Given the description of an element on the screen output the (x, y) to click on. 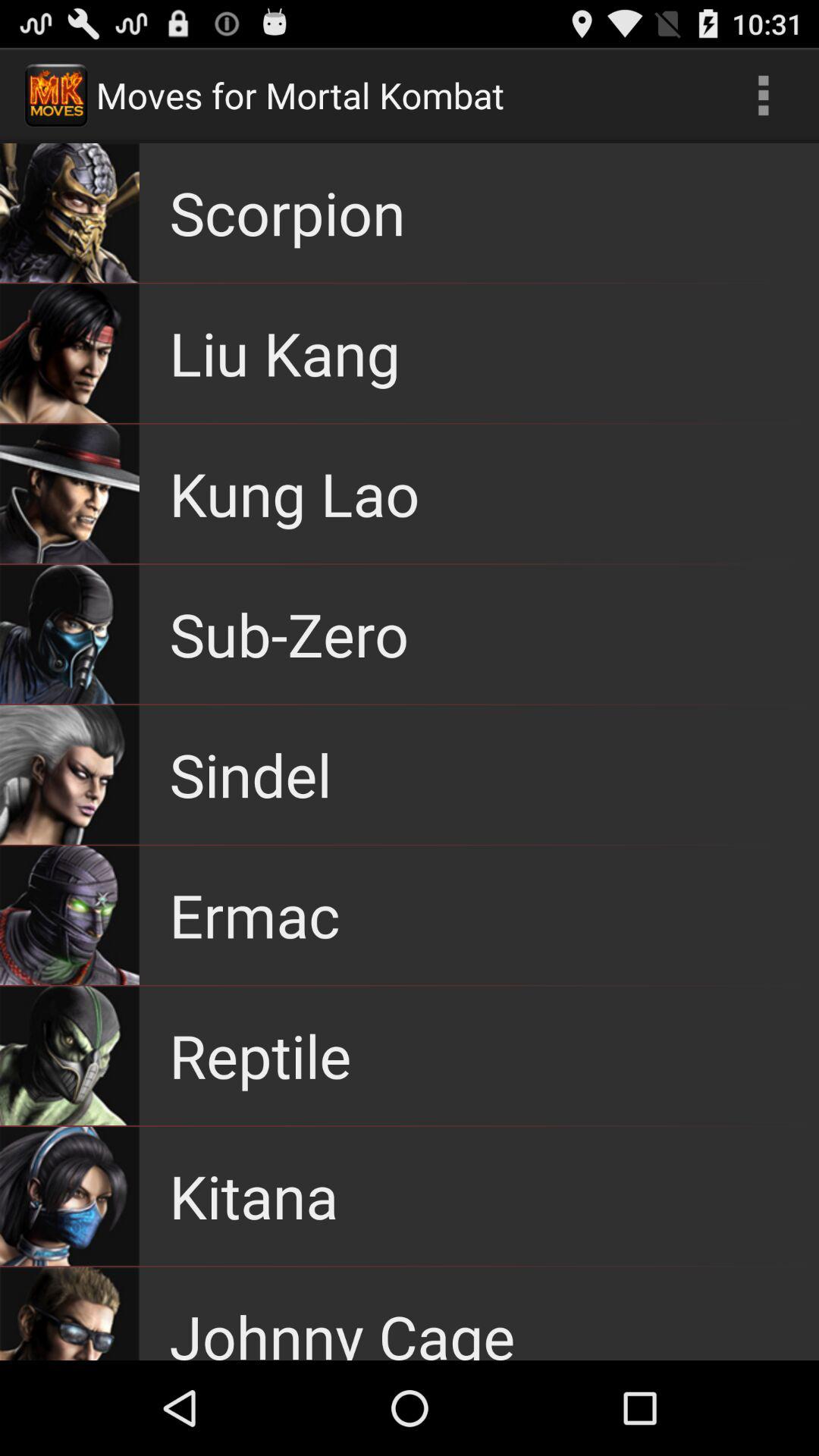
launch the sub-zero item (288, 633)
